Given the description of an element on the screen output the (x, y) to click on. 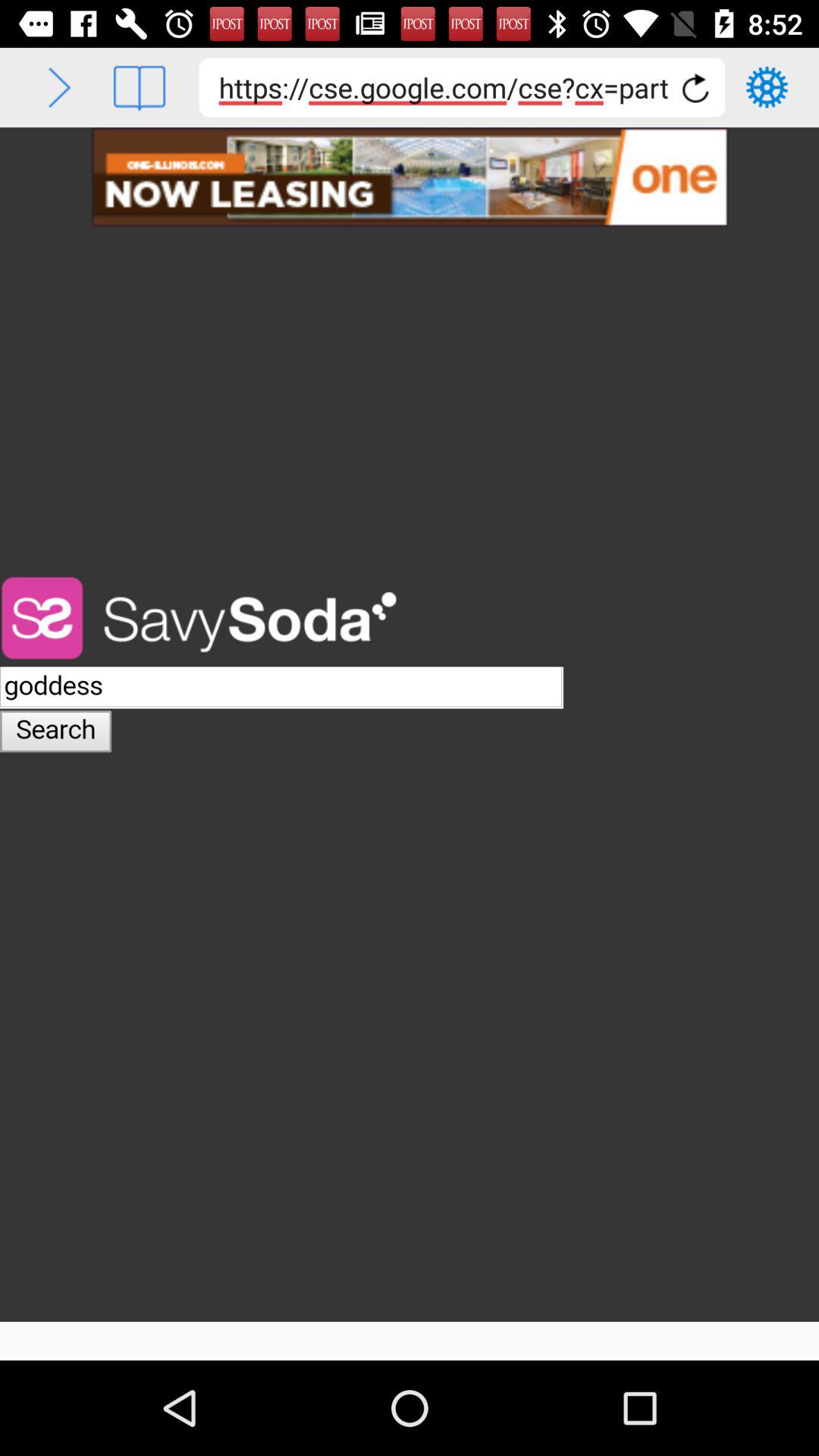
settings menu (766, 87)
